Given the description of an element on the screen output the (x, y) to click on. 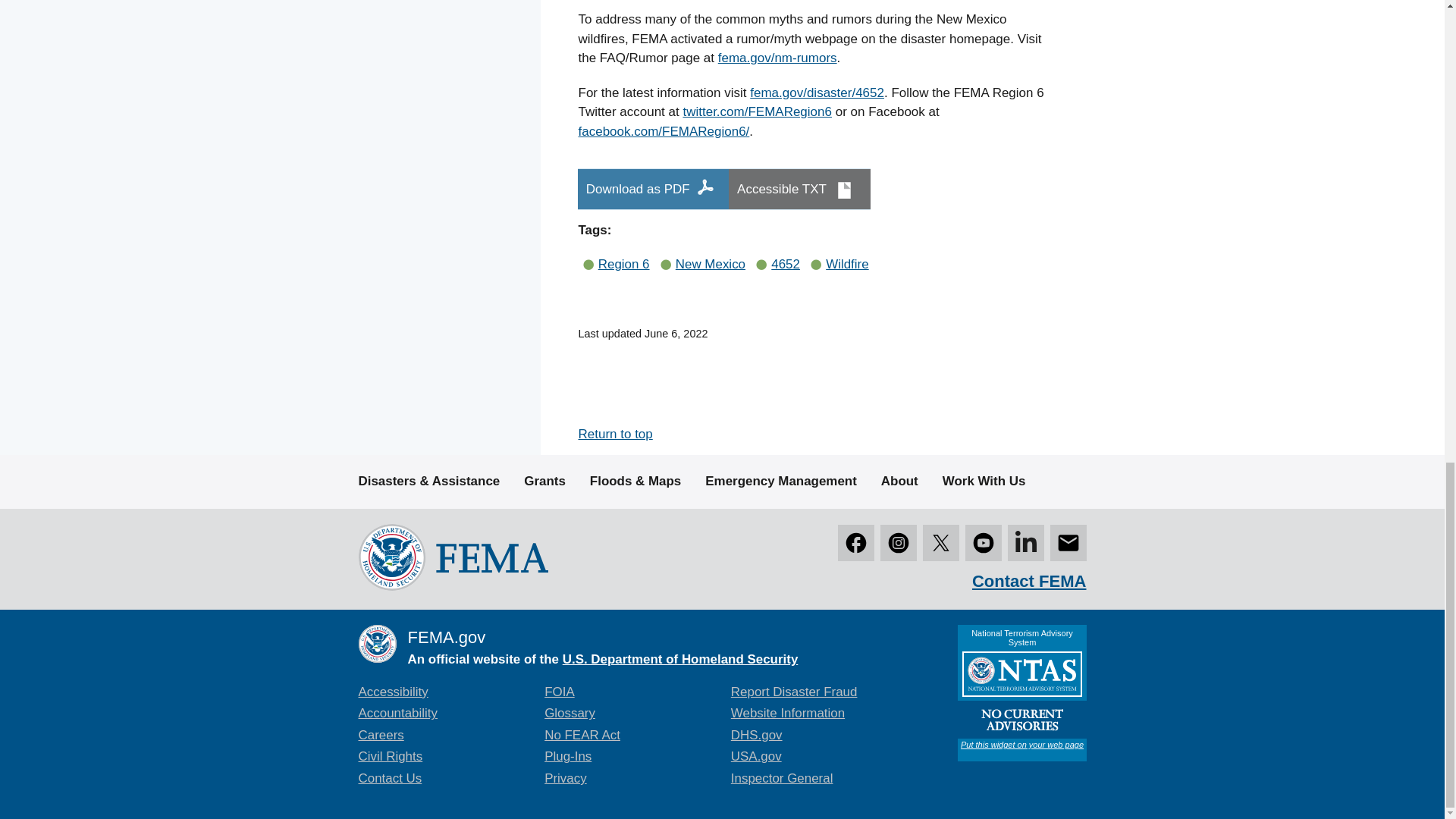
National Terrorism Advisory System (1021, 692)
Monday, June 6, 2022 - 22:32 (676, 333)
FEMA logo (452, 557)
Download as PDF (653, 188)
Accessible TXT (799, 188)
